Given the description of an element on the screen output the (x, y) to click on. 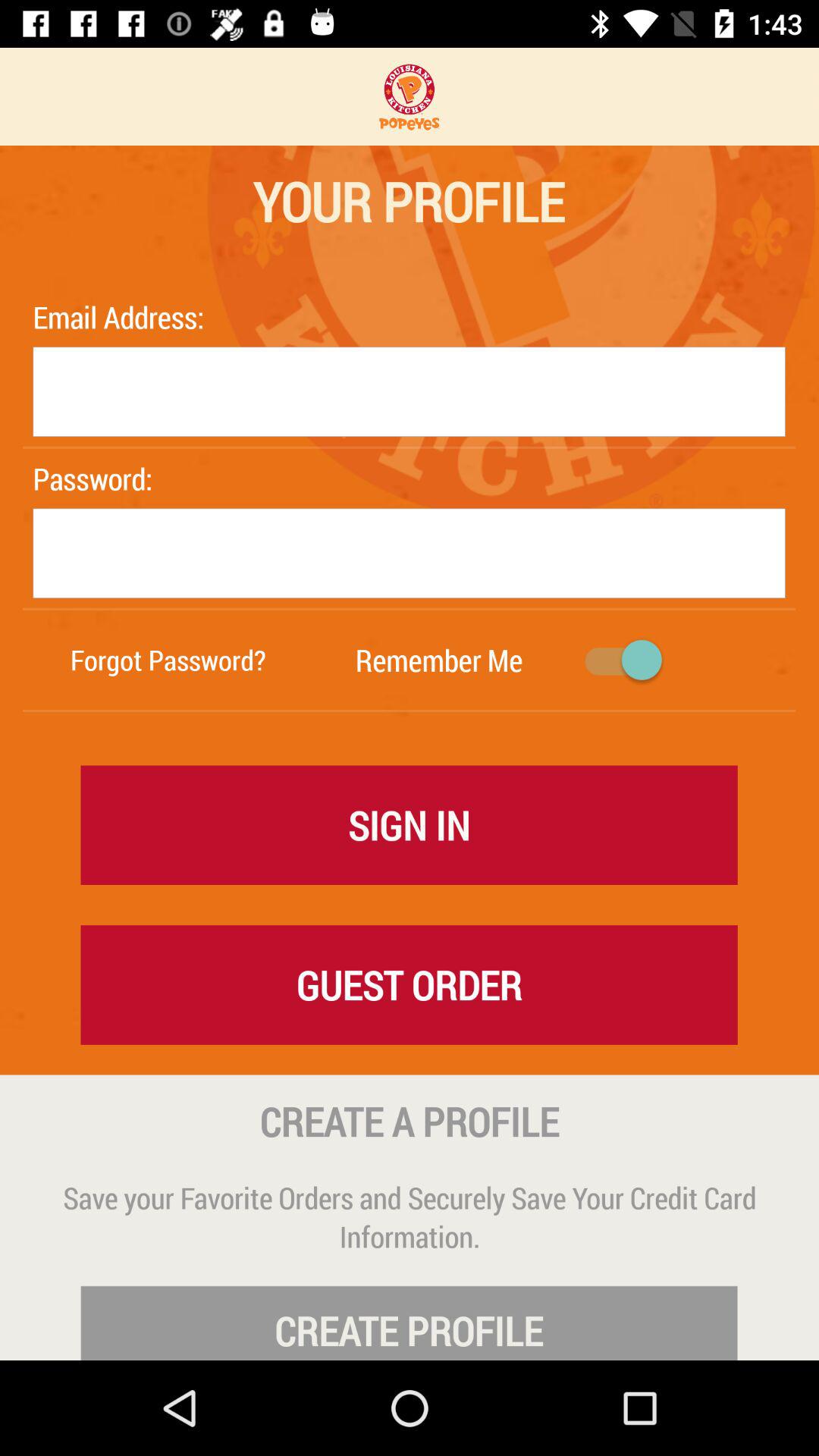
flip to the your profile icon (408, 201)
